Given the description of an element on the screen output the (x, y) to click on. 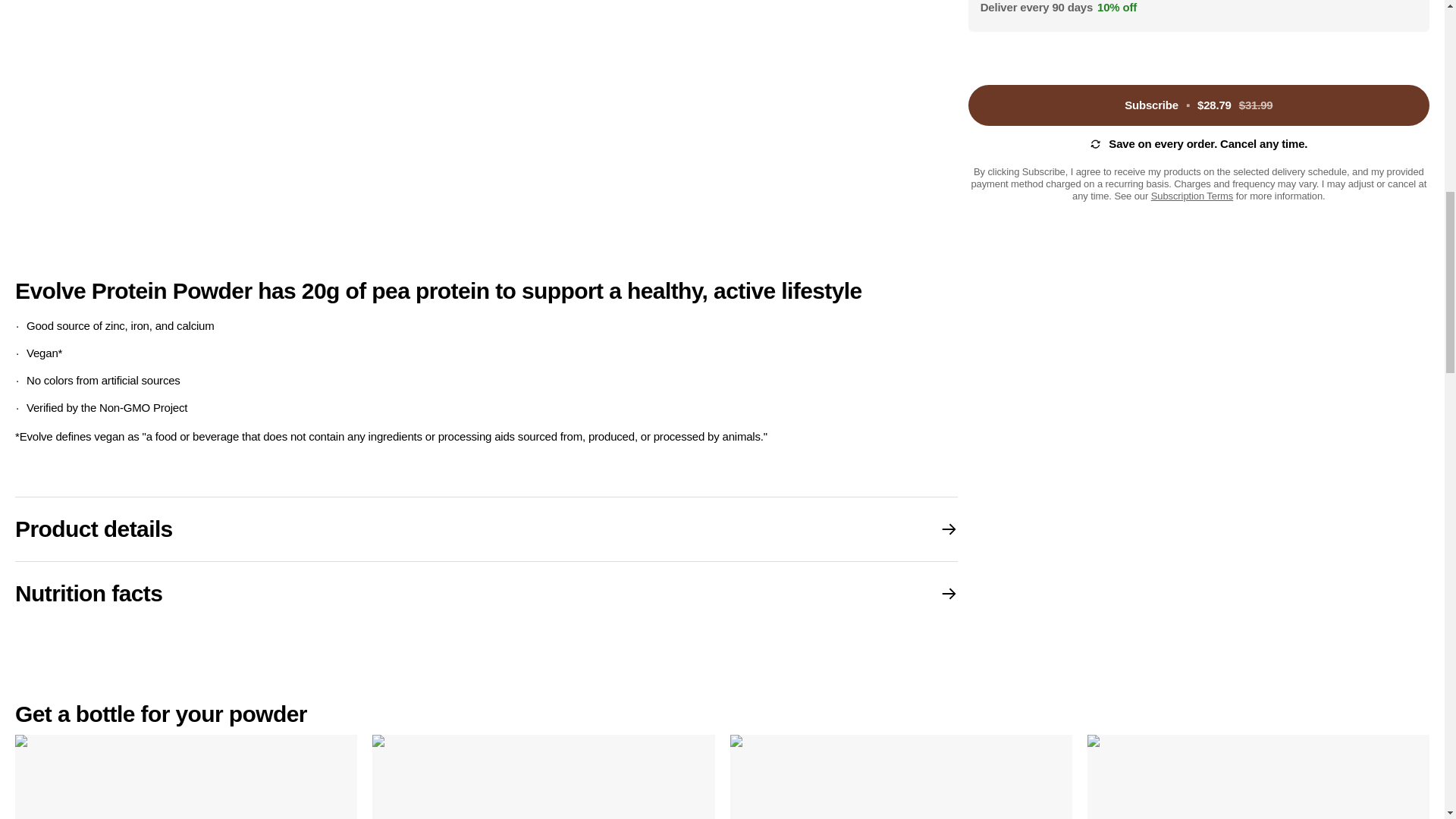
Product details (486, 529)
Subscription Terms (1192, 195)
Nutrition facts (486, 593)
